Given the description of an element on the screen output the (x, y) to click on. 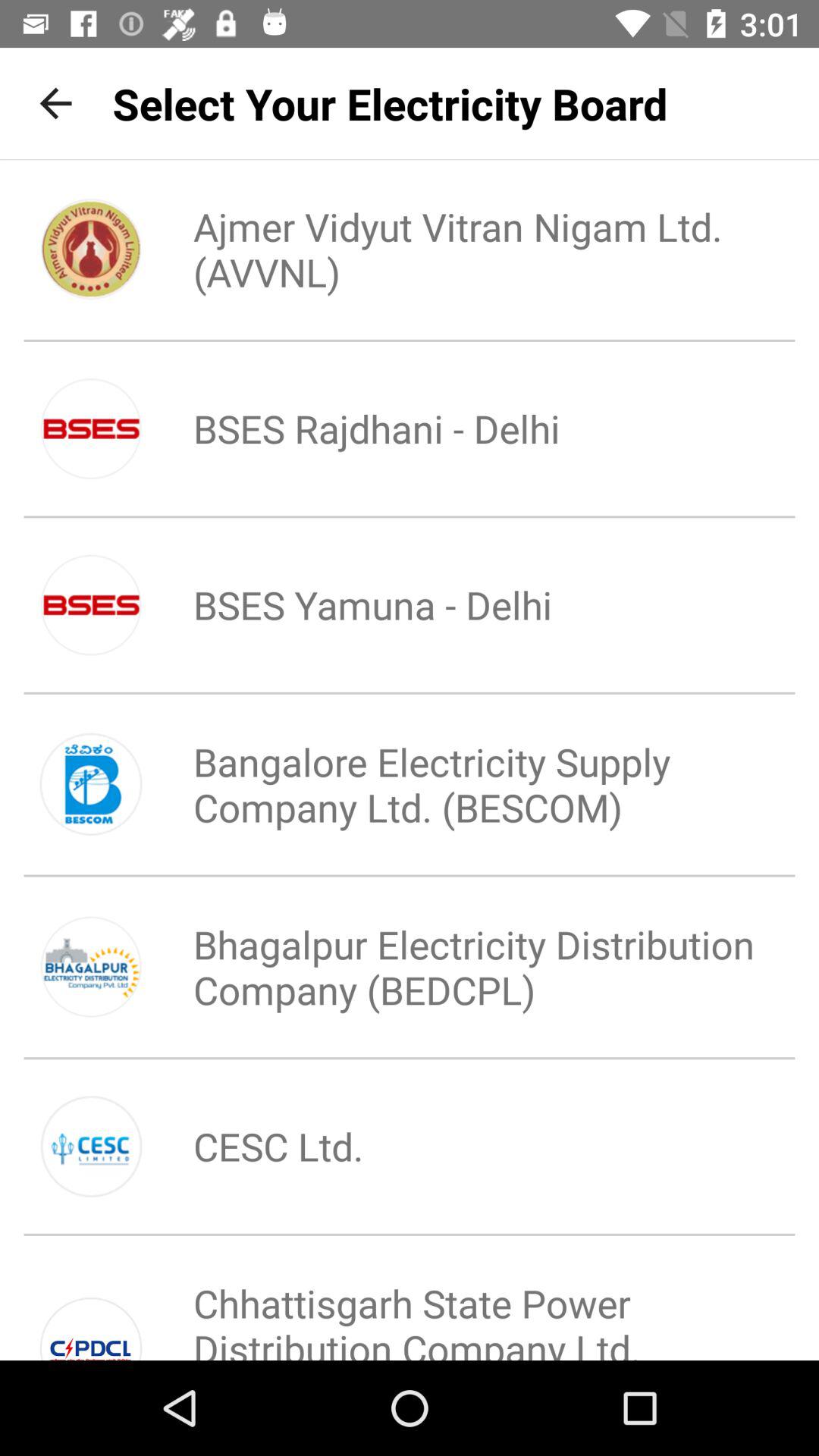
tap the bhagalpur electricity distribution (460, 966)
